Given the description of an element on the screen output the (x, y) to click on. 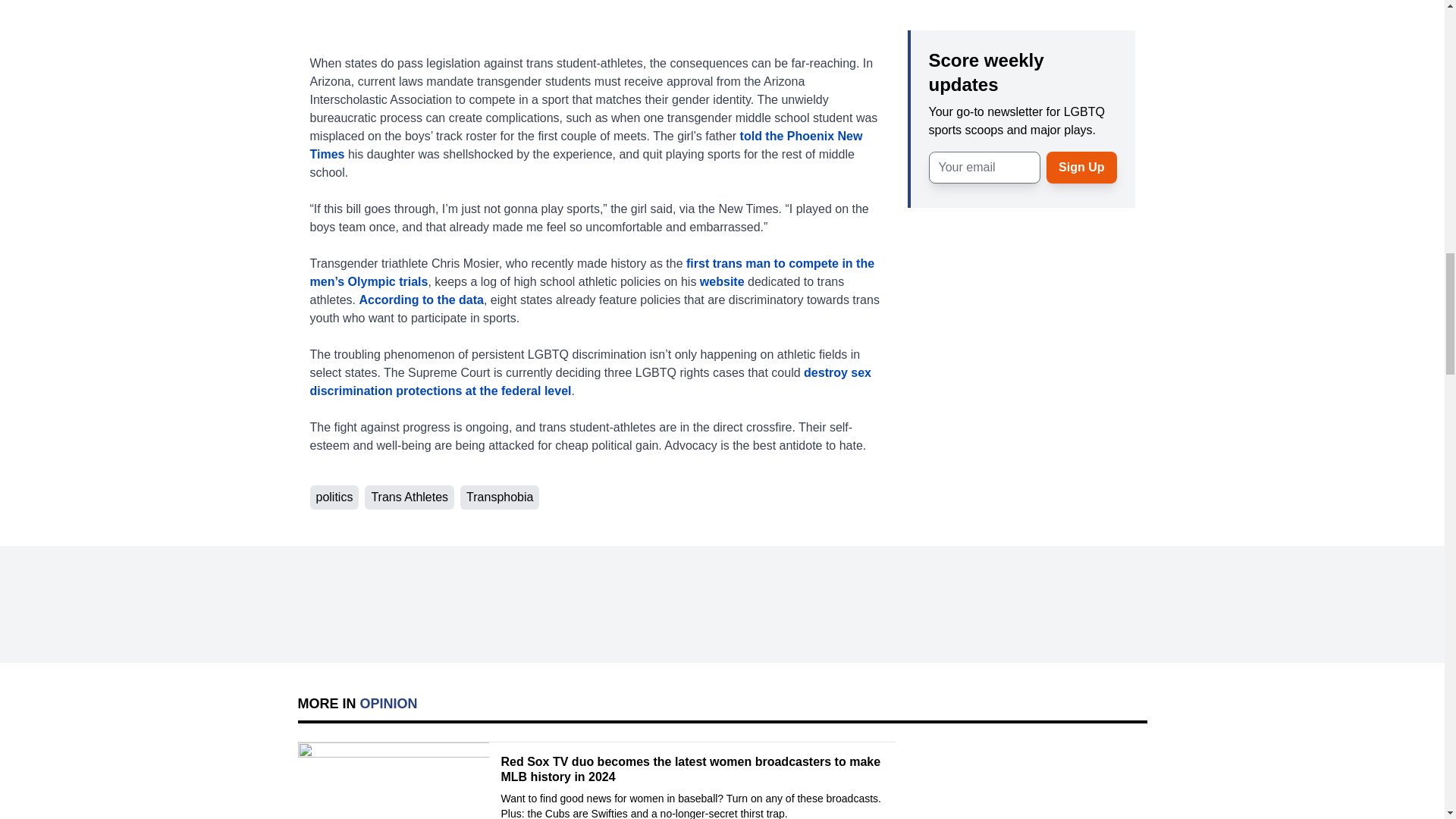
According to the data (420, 299)
Transphobia (499, 497)
Trans Athletes (409, 497)
website (722, 281)
destroy sex discrimination protections at the federal level (589, 381)
told the Phoenix New Times (584, 144)
politics (333, 497)
